Given the description of an element on the screen output the (x, y) to click on. 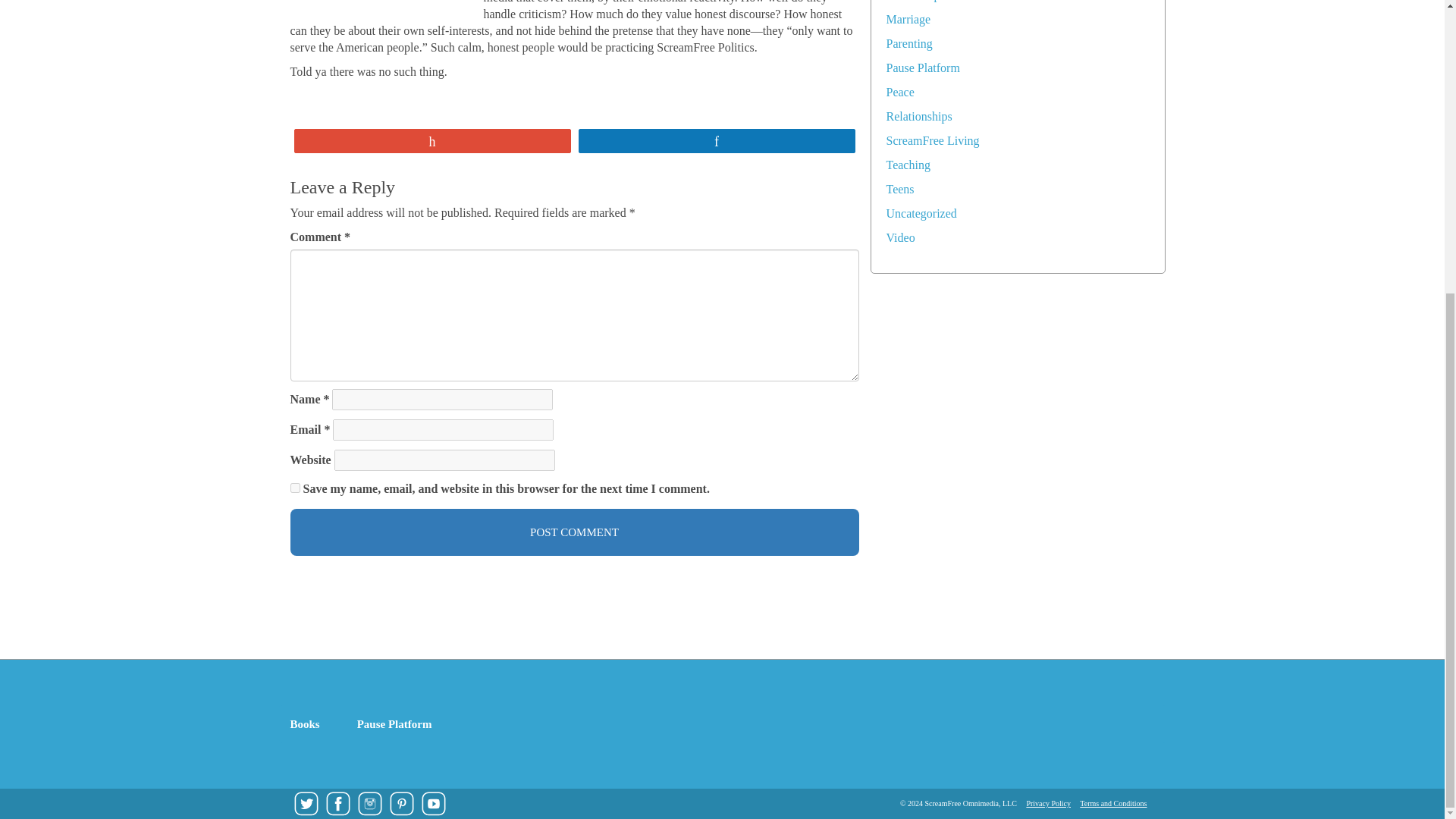
Teens (899, 188)
Pause Platform (922, 67)
Post Comment (574, 532)
Teaching (907, 164)
Leadership (912, 0)
Relationships (918, 115)
Marriage (907, 19)
Uncategorized (920, 213)
Video (899, 237)
Post Comment (574, 532)
ScreamFree Living (931, 140)
yes (294, 488)
Parenting (908, 42)
Peace (899, 91)
